Given the description of an element on the screen output the (x, y) to click on. 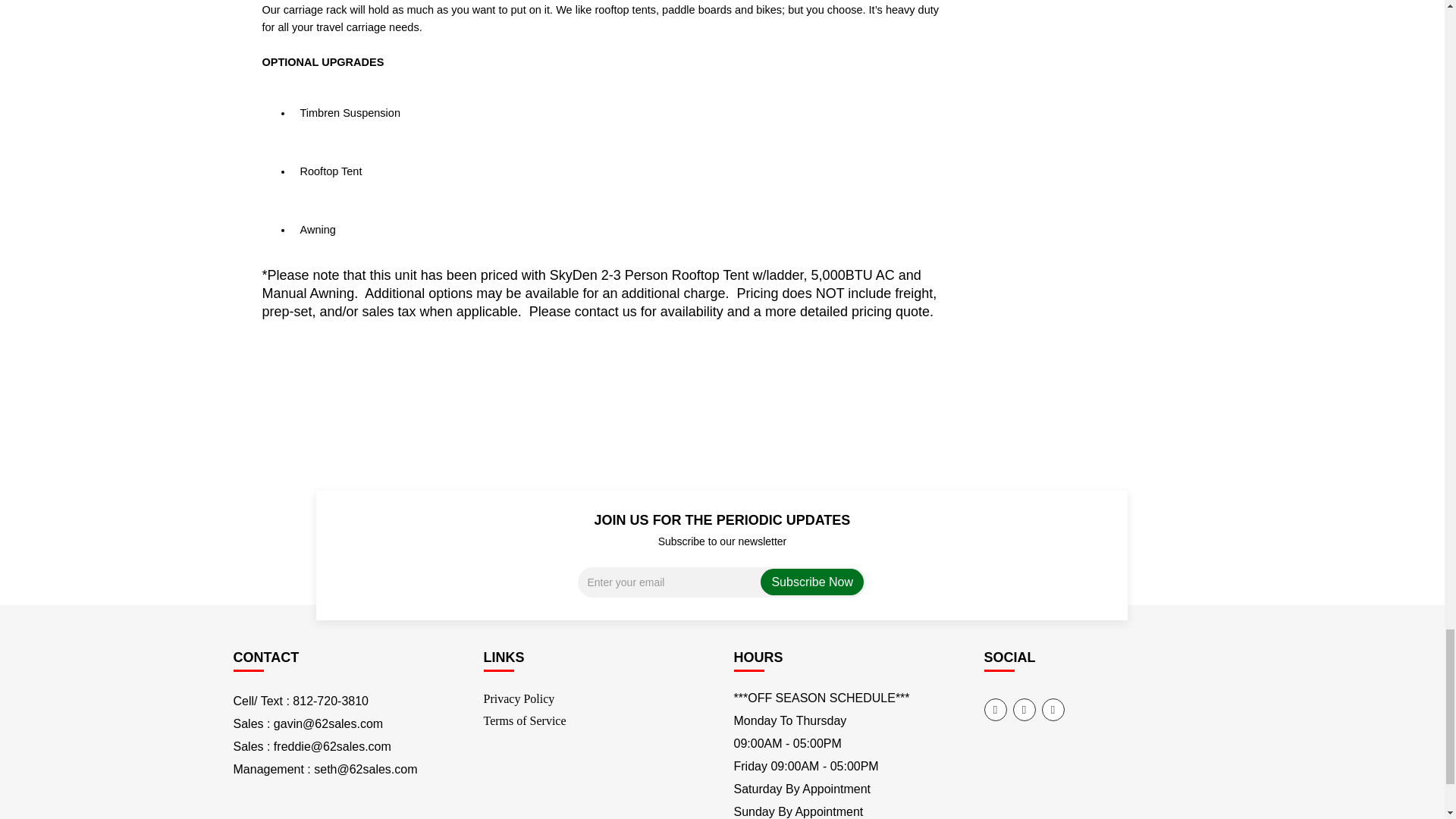
 Subscribe Now  (812, 581)
